Given the description of an element on the screen output the (x, y) to click on. 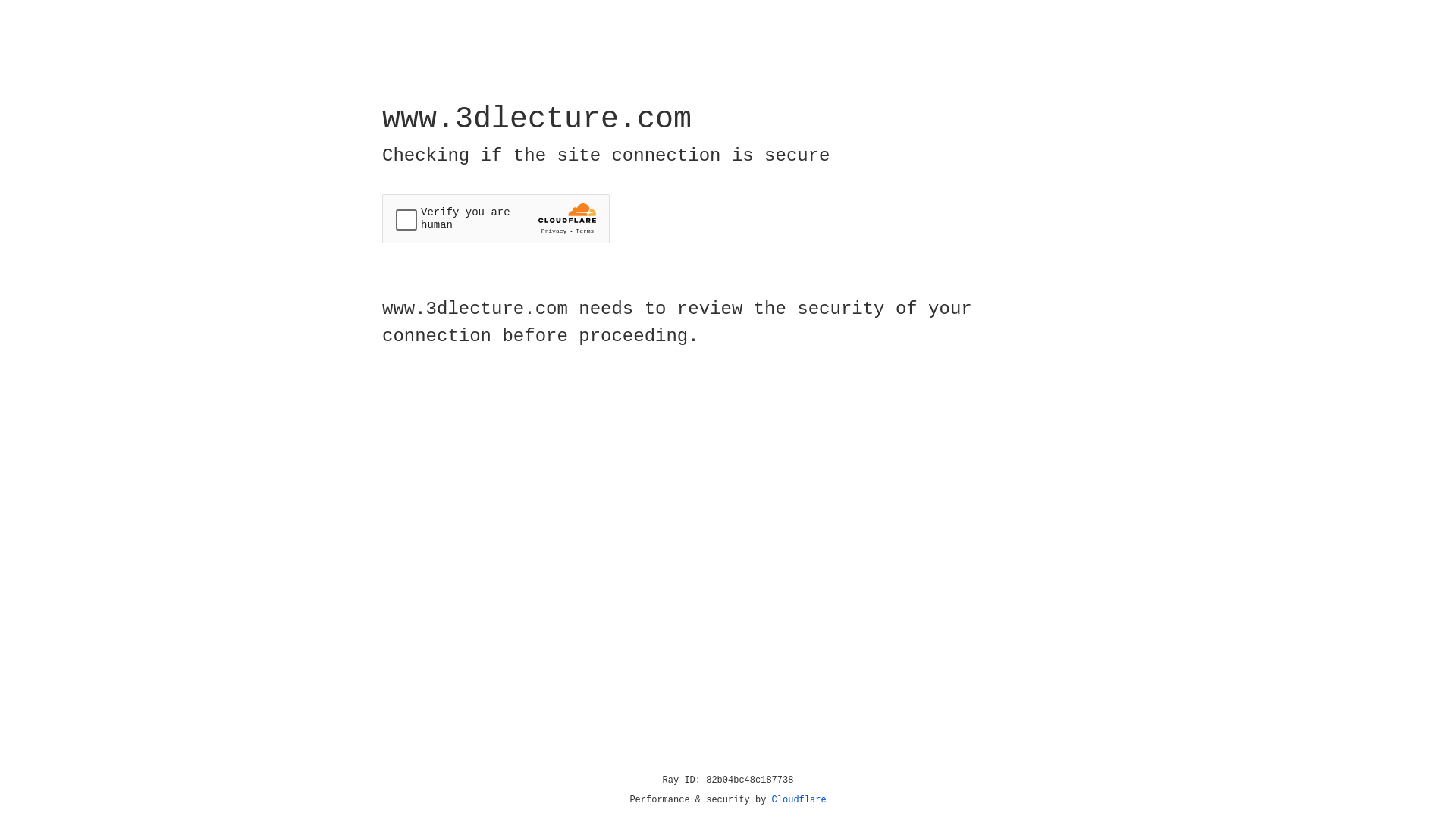
Widget containing a Cloudflare security challenge Element type: hover (495, 218)
Cloudflare Element type: text (798, 799)
